Given the description of an element on the screen output the (x, y) to click on. 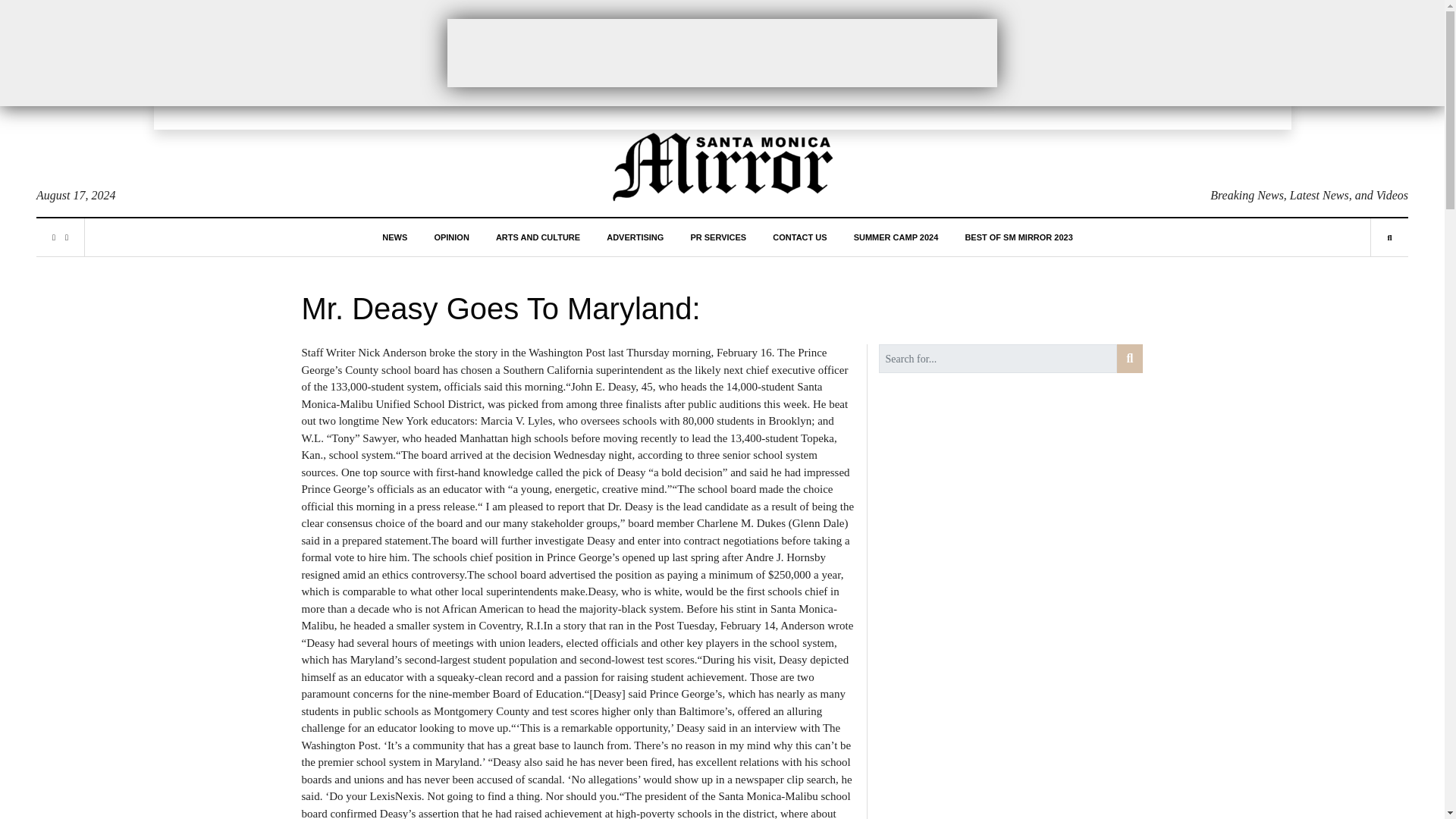
ARTS AND CULTURE (537, 237)
3rd party ad content (721, 52)
BEST OF SM MIRROR 2023 (1017, 237)
SUMMER CAMP 2024 (896, 237)
PR SERVICES (717, 237)
CONTACT US (800, 237)
OPINION (450, 237)
ADVERTISING (635, 237)
